Given the description of an element on the screen output the (x, y) to click on. 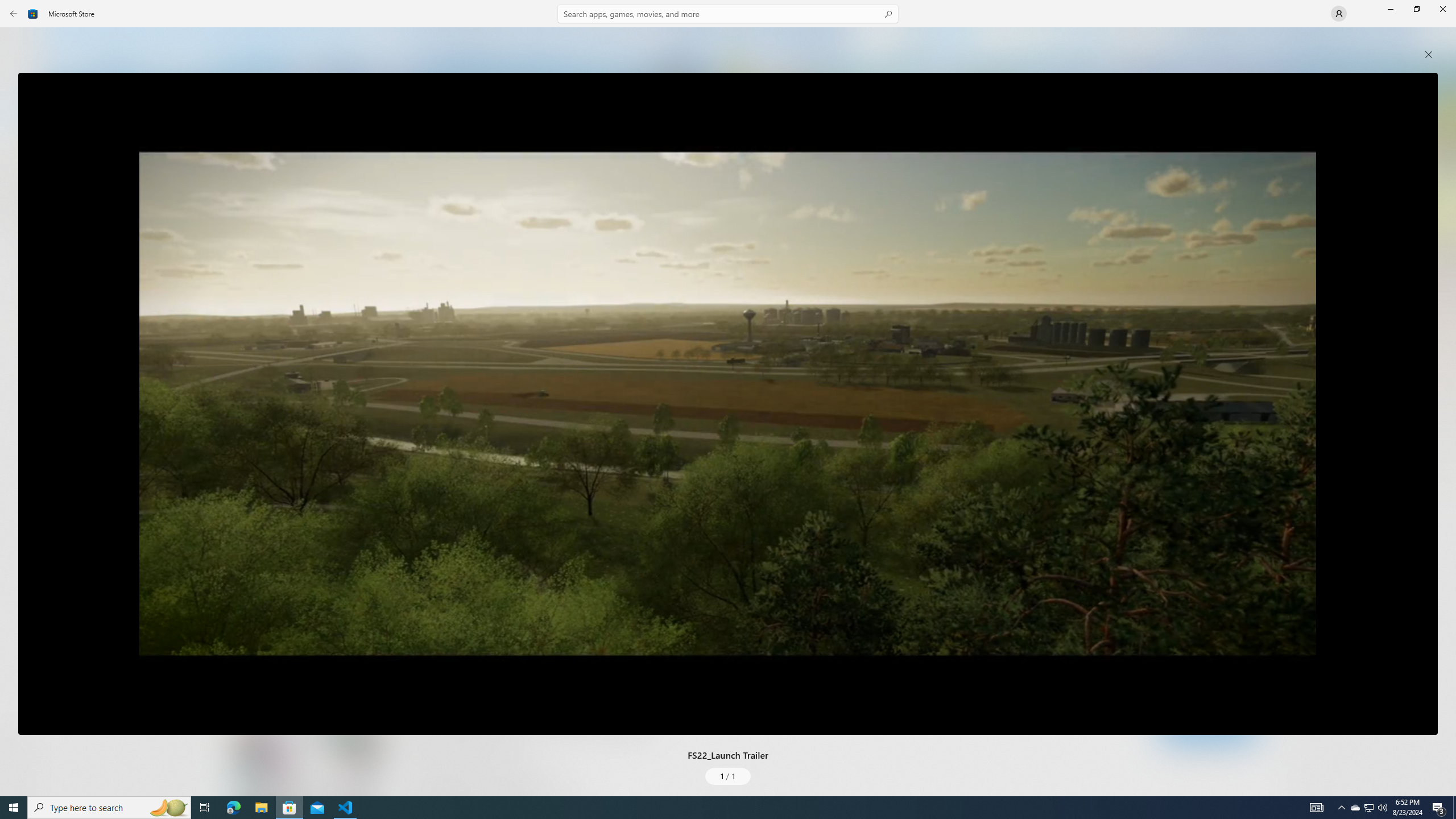
close popup window (1428, 54)
